Given the description of an element on the screen output the (x, y) to click on. 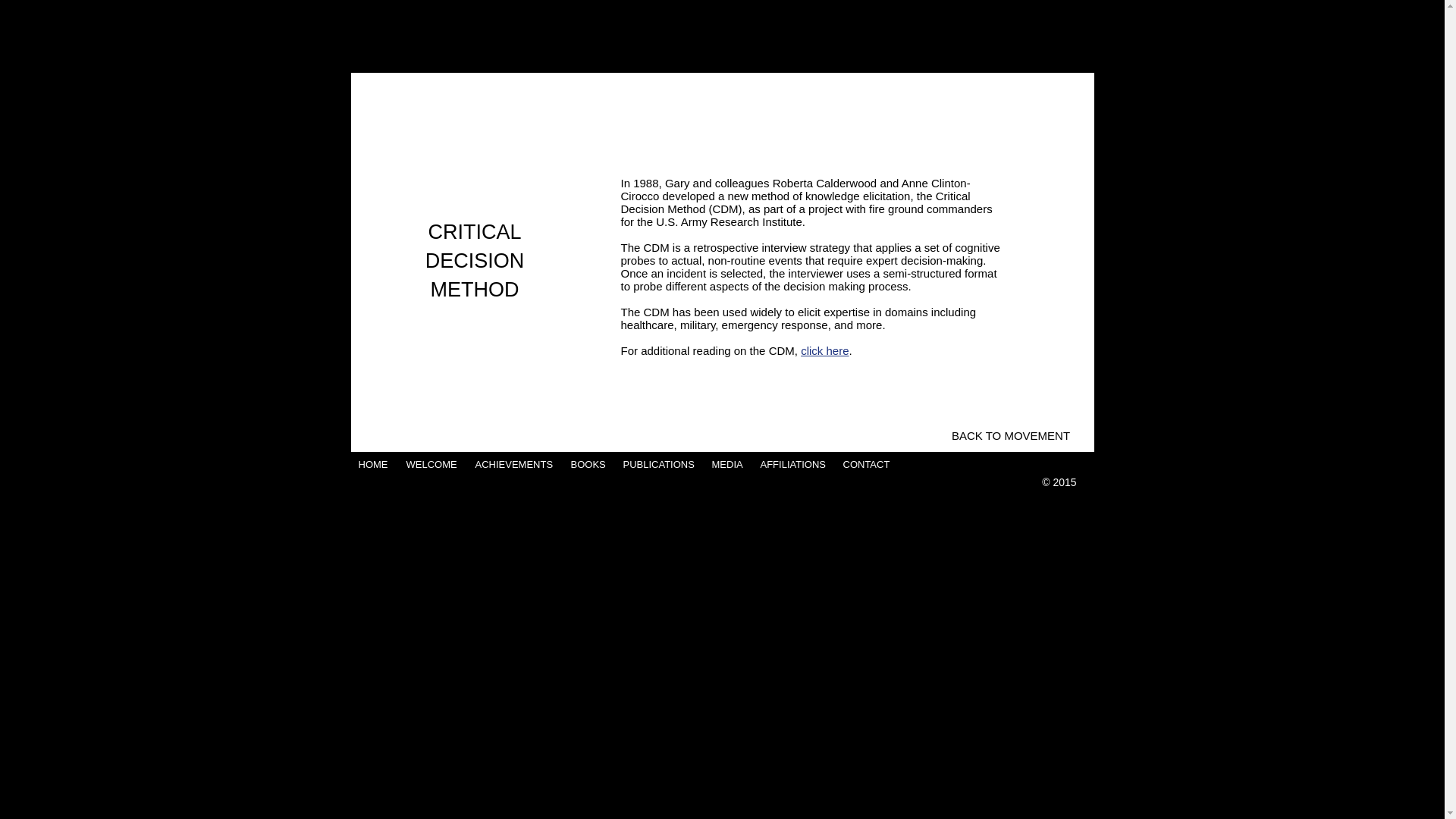
click here (824, 350)
HOME (373, 464)
BACK TO MOVEMENT (1010, 435)
AFFILIATIONS (793, 464)
WELCOME (432, 464)
ACHIEVEMENTS (514, 464)
PUBLICATIONS (659, 464)
CONTACT (867, 464)
Twitter Follow (976, 463)
BOOKS (588, 464)
